Given the description of an element on the screen output the (x, y) to click on. 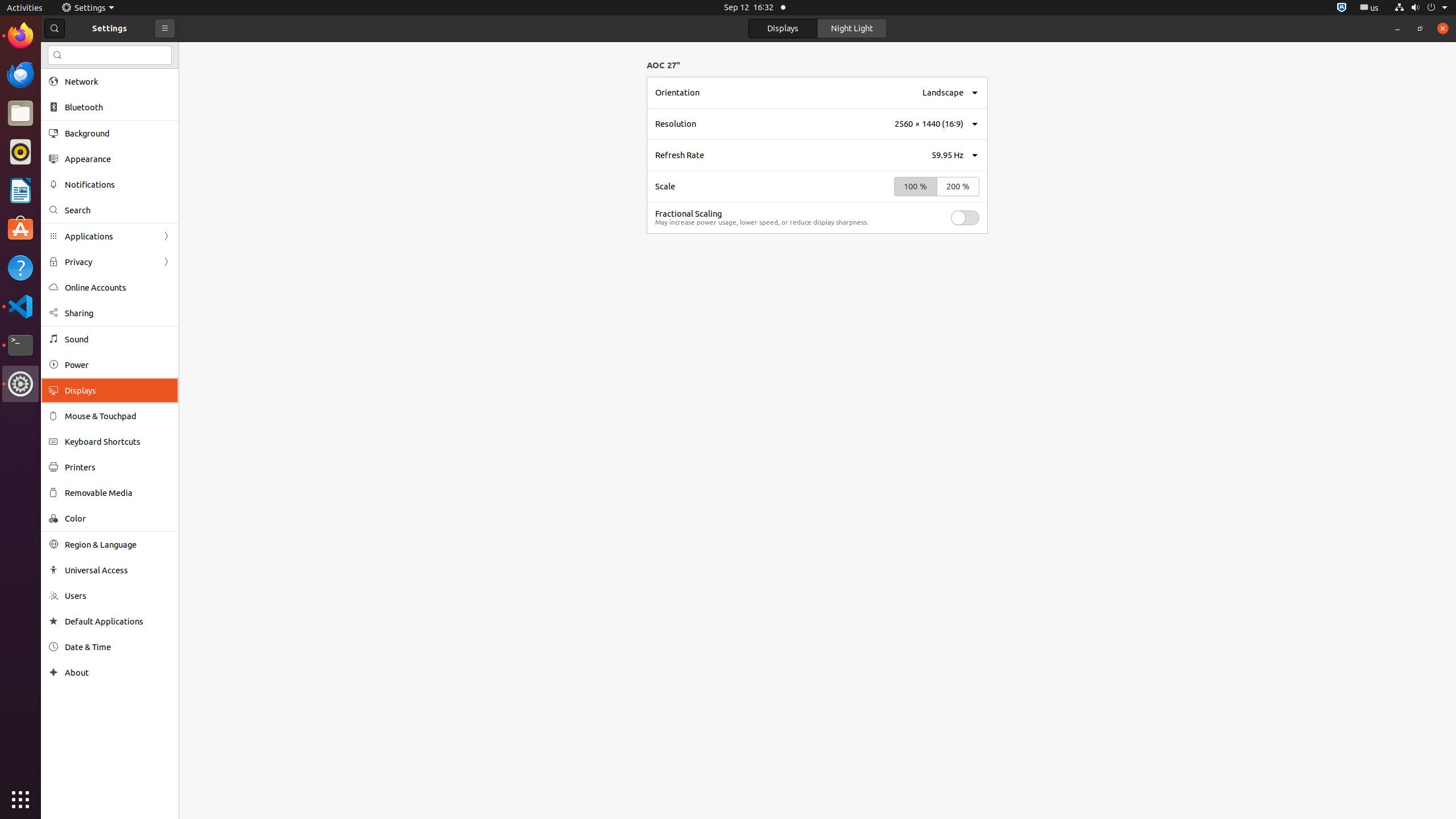
Terminal Element type: push-button (20, 344)
Bluetooth Element type: label (117, 107)
Settings Element type: menu (87, 7)
About Element type: label (117, 672)
